Given the description of an element on the screen output the (x, y) to click on. 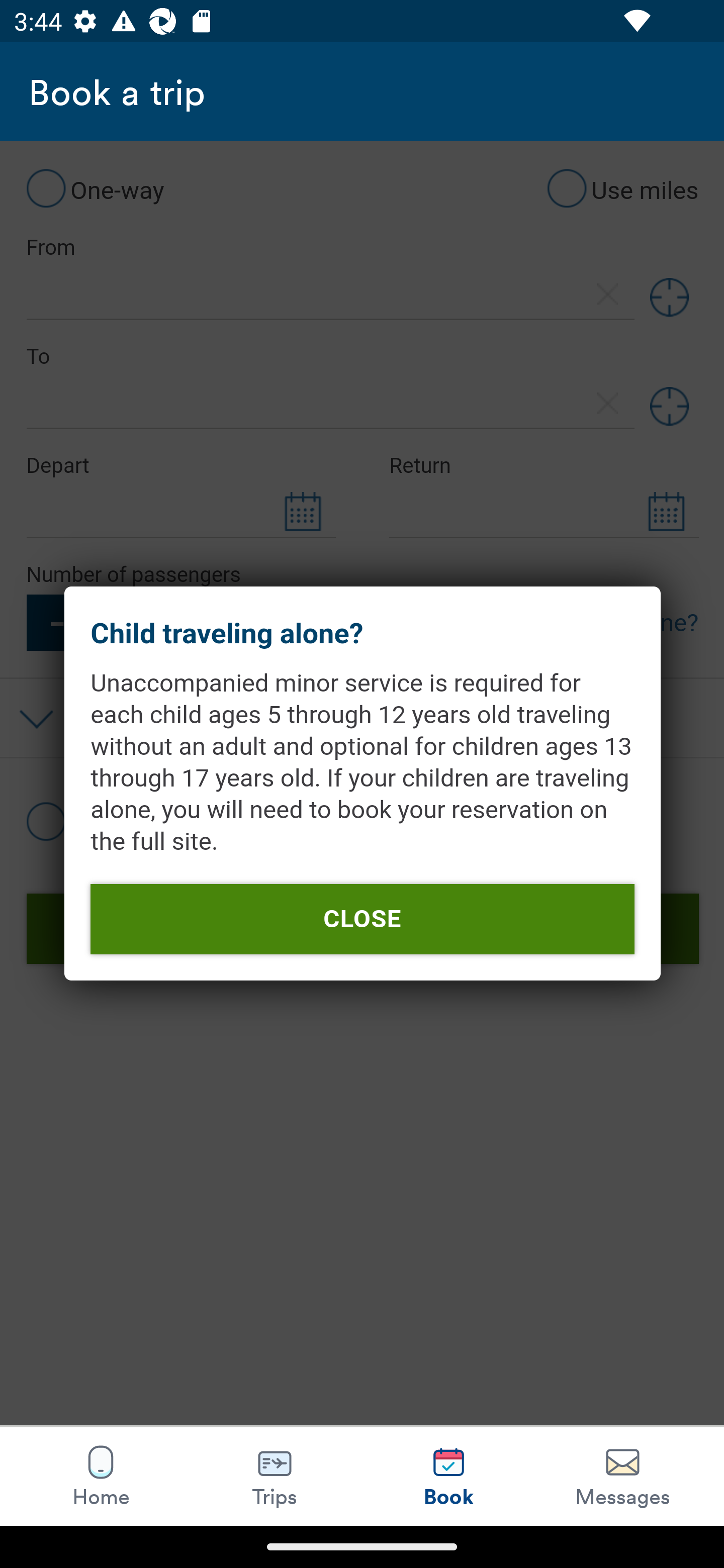
Close (361, 918)
Home (100, 1475)
Trips (275, 1475)
Book (448, 1475)
Messages (622, 1475)
